Given the description of an element on the screen output the (x, y) to click on. 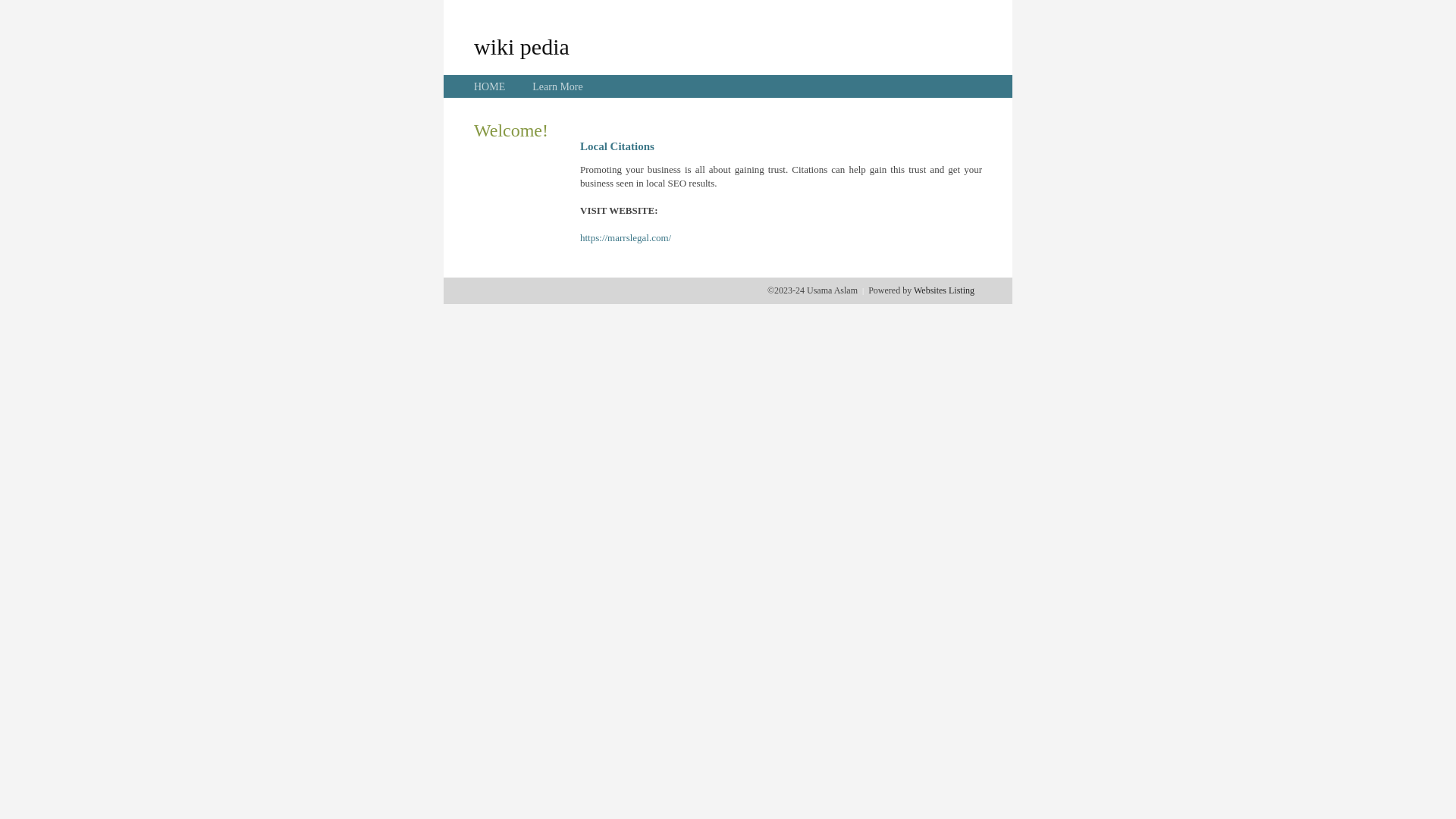
Websites Listing Element type: text (943, 290)
https://marrslegal.com/ Element type: text (625, 237)
Learn More Element type: text (557, 86)
HOME Element type: text (489, 86)
wiki pedia Element type: text (521, 46)
